Given the description of an element on the screen output the (x, y) to click on. 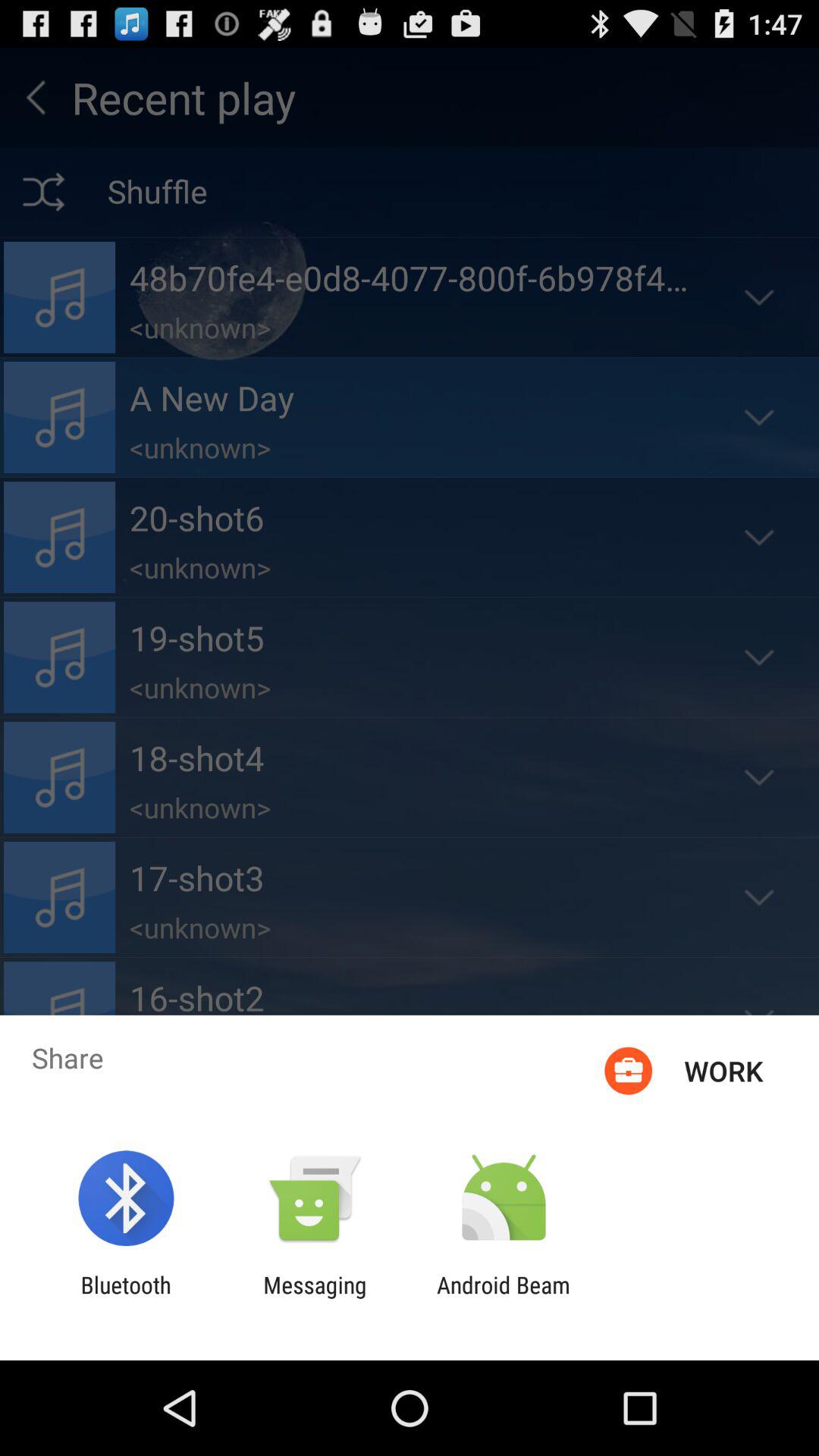
scroll until the bluetooth app (125, 1298)
